Given the description of an element on the screen output the (x, y) to click on. 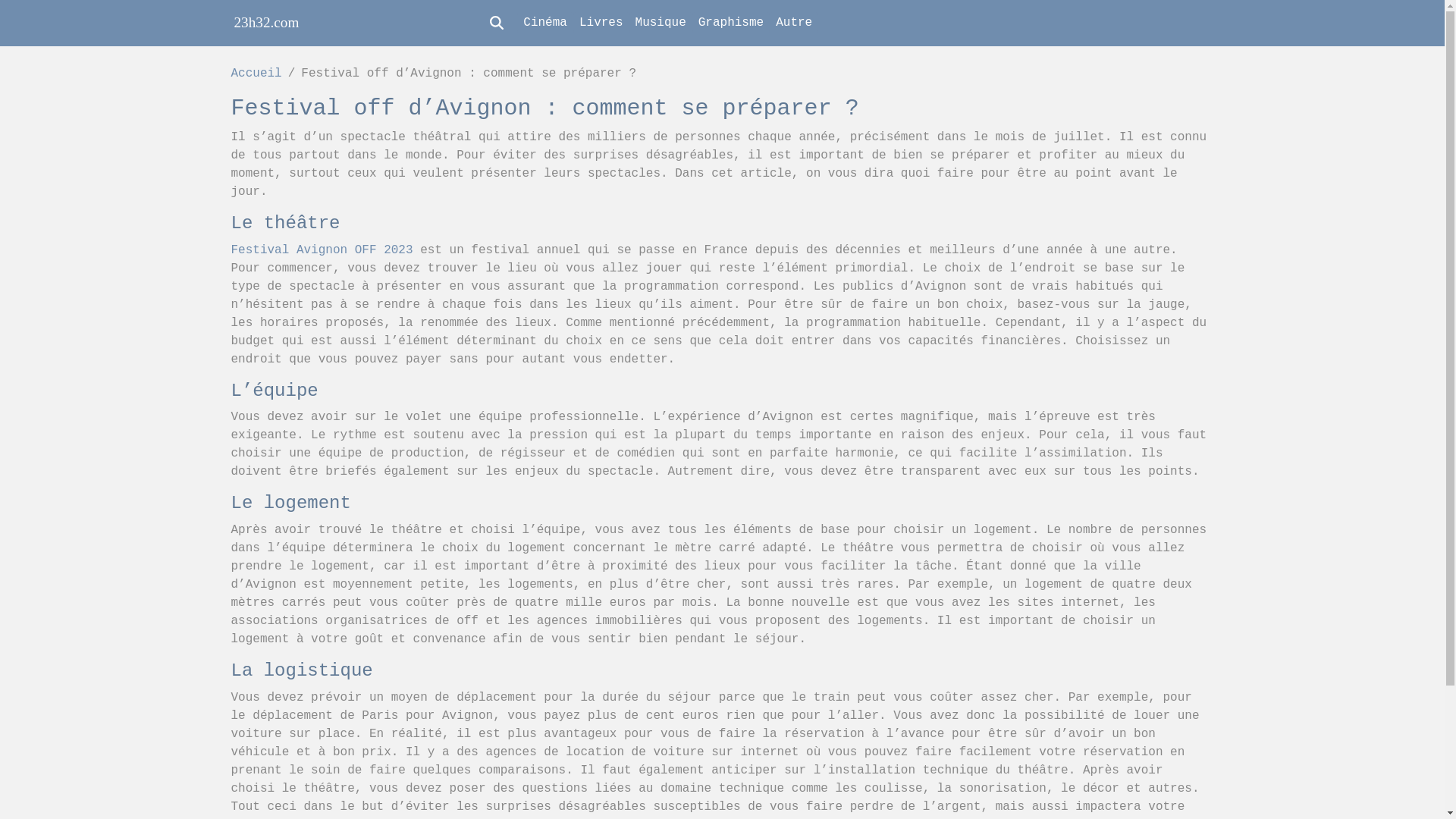
Graphisme Element type: text (730, 22)
Livres Element type: text (601, 22)
Autre Element type: text (793, 22)
Festival Avignon OFF 2023 Element type: text (321, 250)
23h32.com Element type: text (265, 22)
Musique Element type: text (660, 22)
Accueil Element type: text (255, 73)
